Given the description of an element on the screen output the (x, y) to click on. 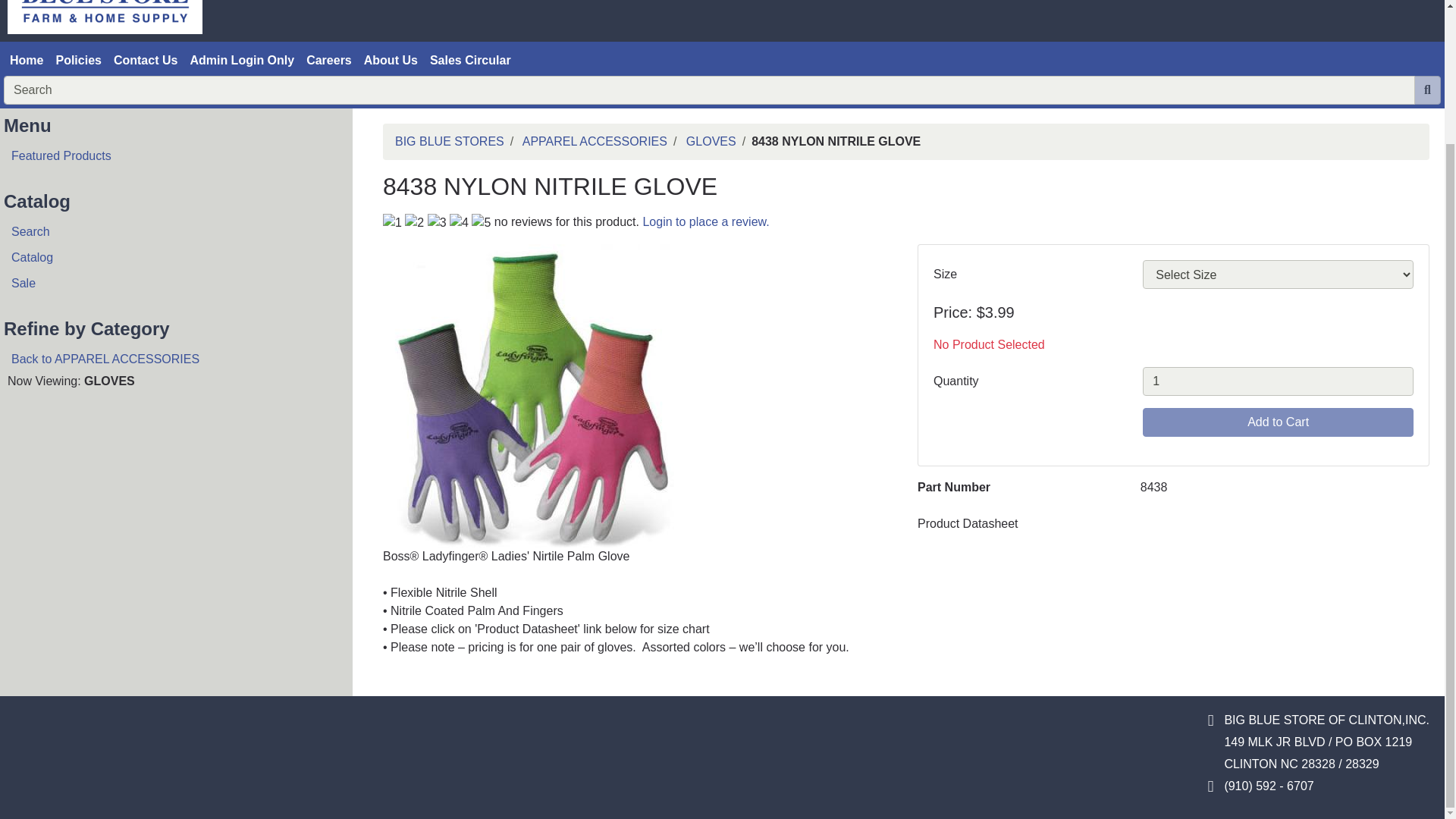
Not rated yet! (458, 222)
APPAREL ACCESSORIES (594, 141)
Contact Us (145, 60)
1 (1277, 380)
Not rated yet! (413, 222)
Careers (328, 60)
Search (170, 231)
Not rated yet! (437, 222)
Not rated yet! (480, 222)
GLOVES (710, 141)
